Given the description of an element on the screen output the (x, y) to click on. 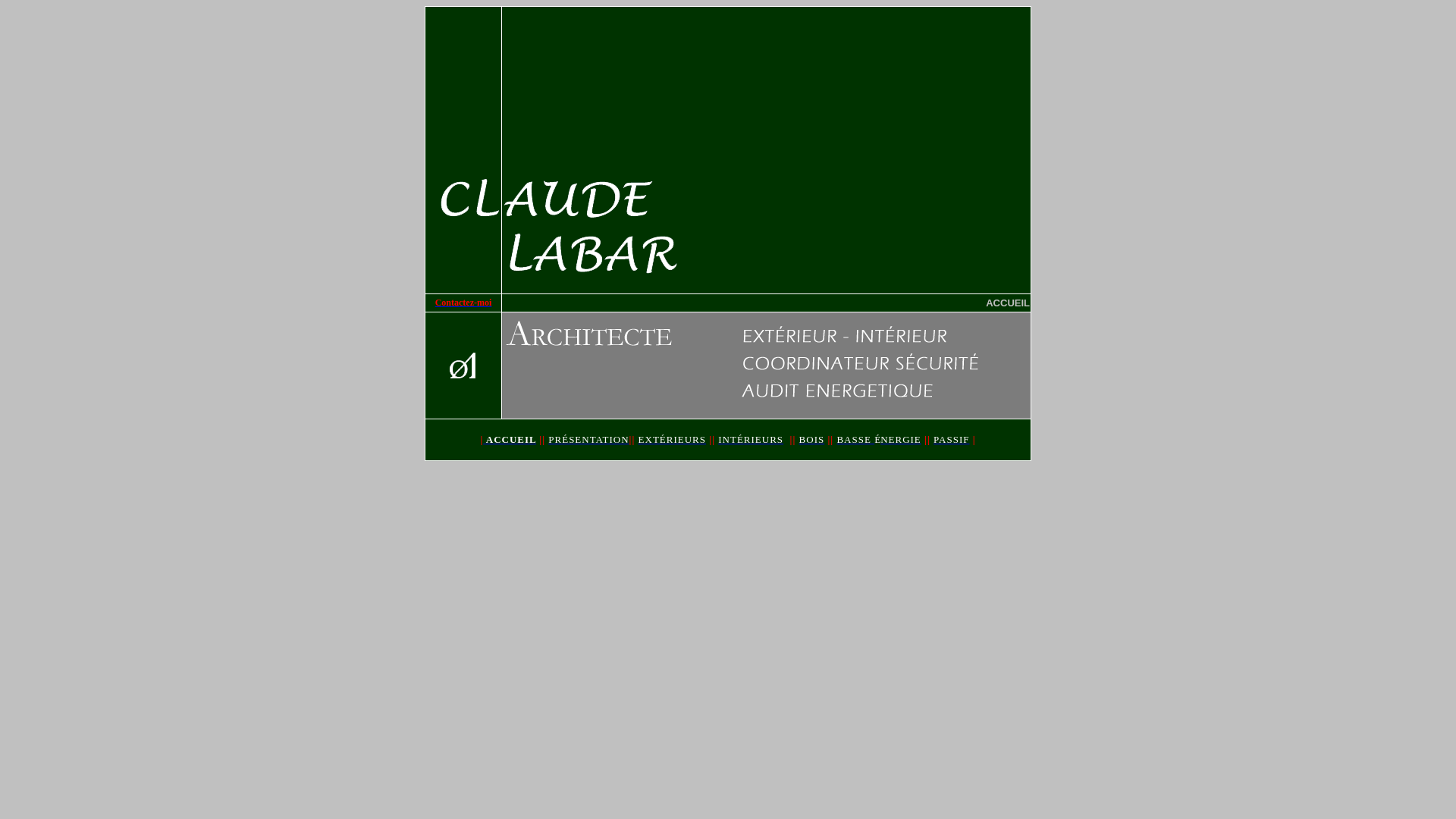
BOIS Element type: text (812, 439)
BASSE Element type: text (855, 439)
Contactez-moi Element type: text (463, 300)
NERGIE Element type: text (900, 439)
PASSIF Element type: text (951, 439)
ACCUEIL Element type: text (511, 439)
